Given the description of an element on the screen output the (x, y) to click on. 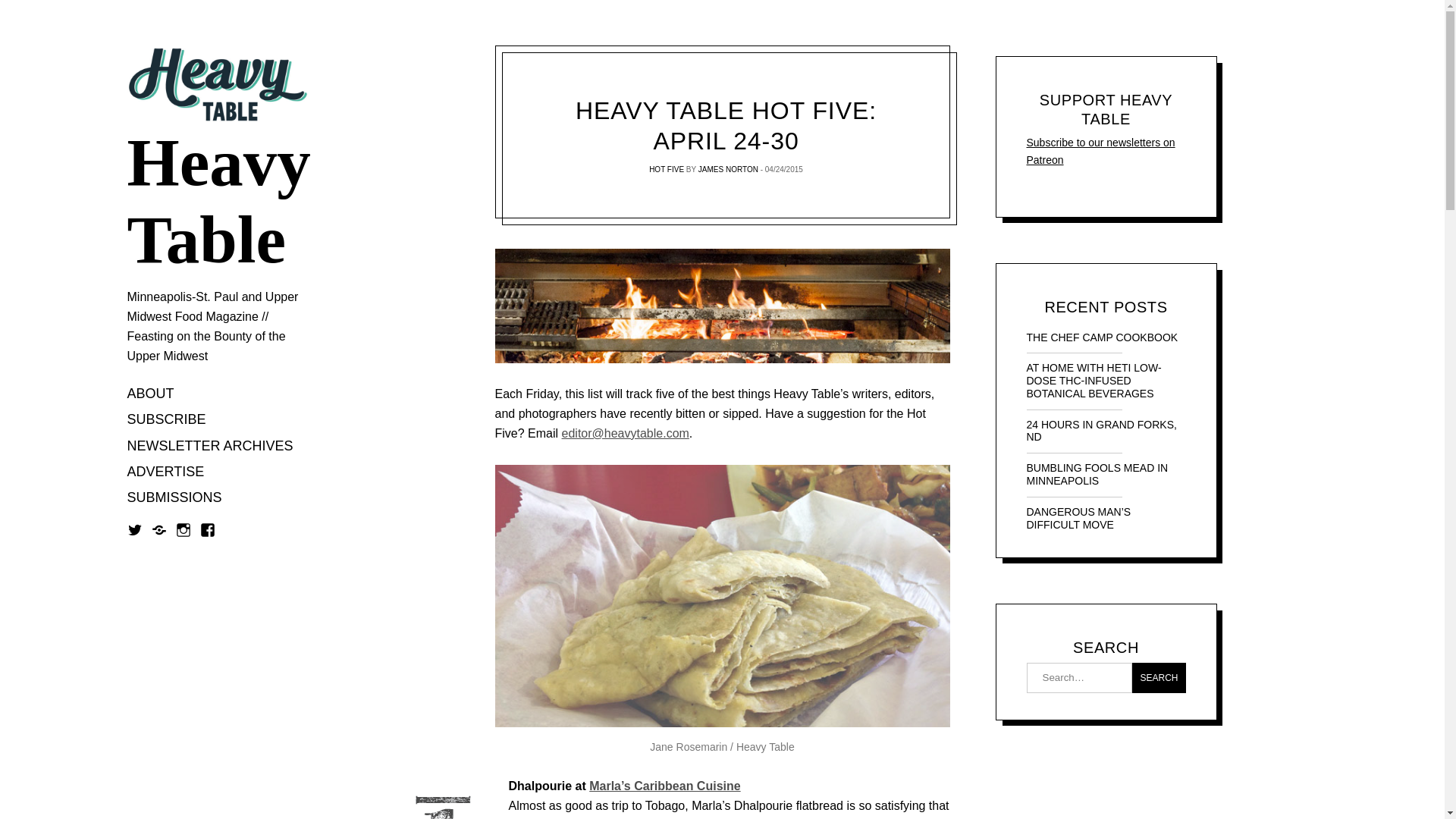
Search (1158, 677)
SUBMISSIONS (175, 498)
Heavy Table (218, 201)
JAMES NORTON (728, 169)
ADVERTISE (166, 472)
Search (1158, 677)
NEWSLETTER ARCHIVES (211, 446)
ABOUT (151, 394)
HOT FIVE (666, 169)
SUBSCRIBE (167, 420)
